Given the description of an element on the screen output the (x, y) to click on. 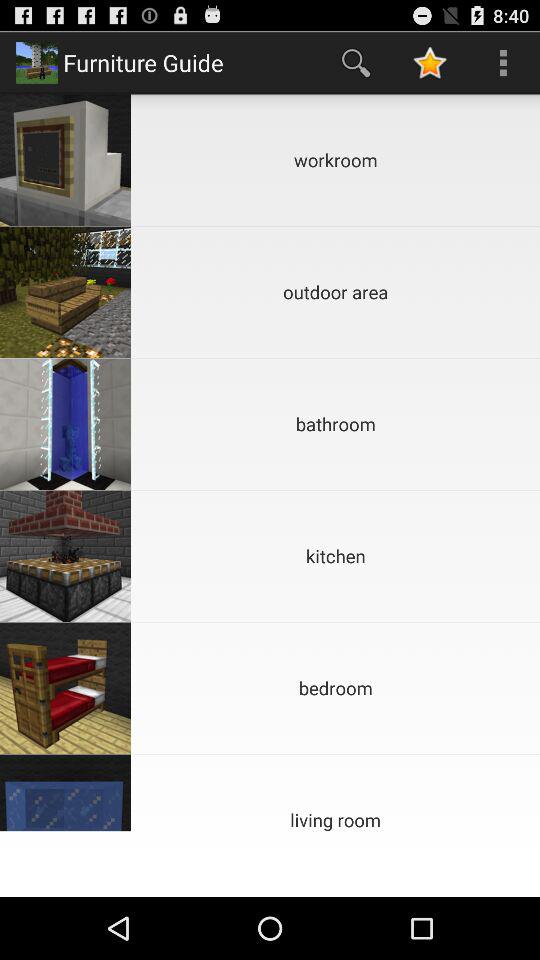
click app above the workroom (503, 62)
